Given the description of an element on the screen output the (x, y) to click on. 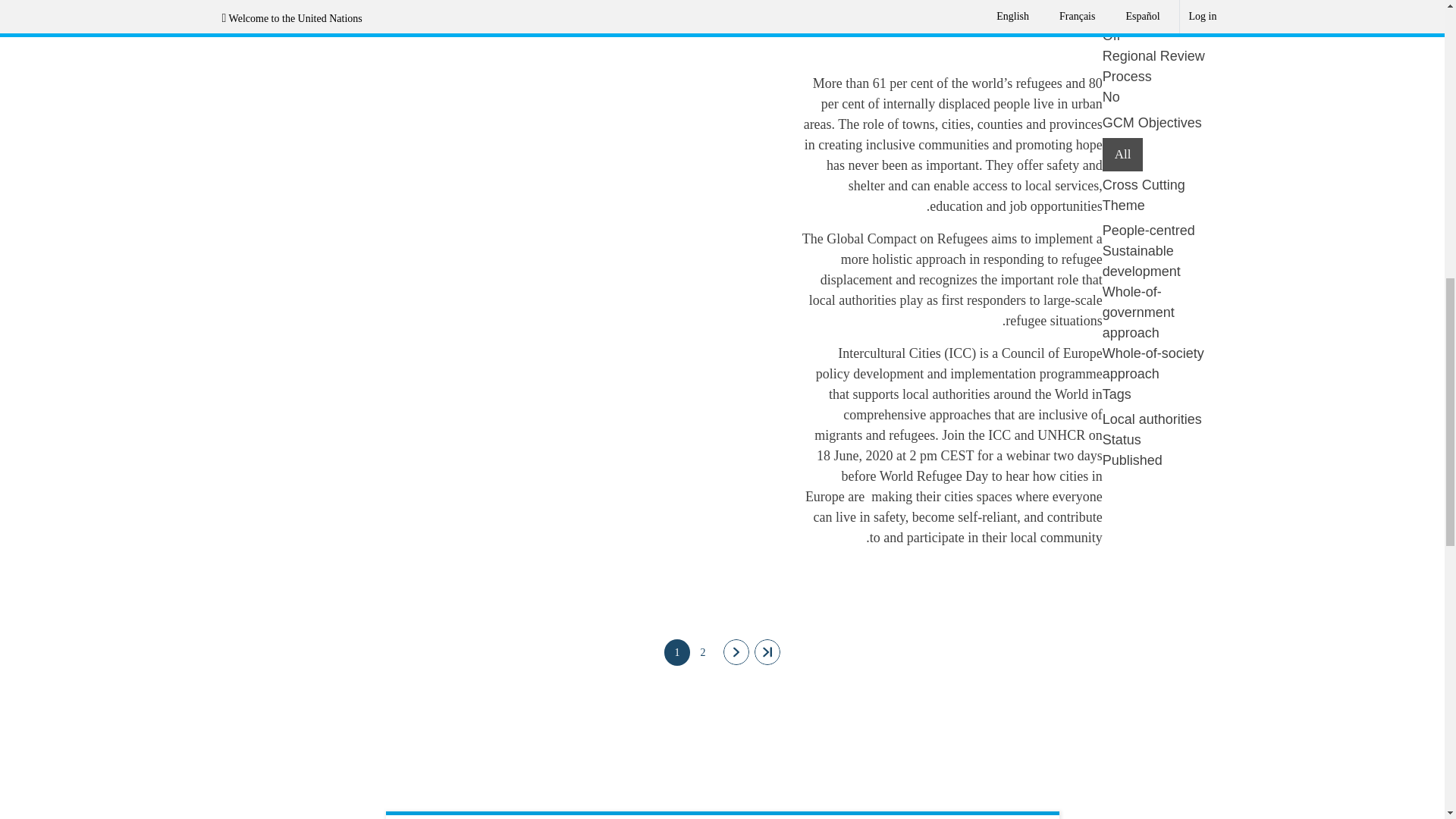
Go to next page (736, 652)
Go to last page (767, 652)
Current page (676, 652)
Go to page 2 (703, 652)
